Given the description of an element on the screen output the (x, y) to click on. 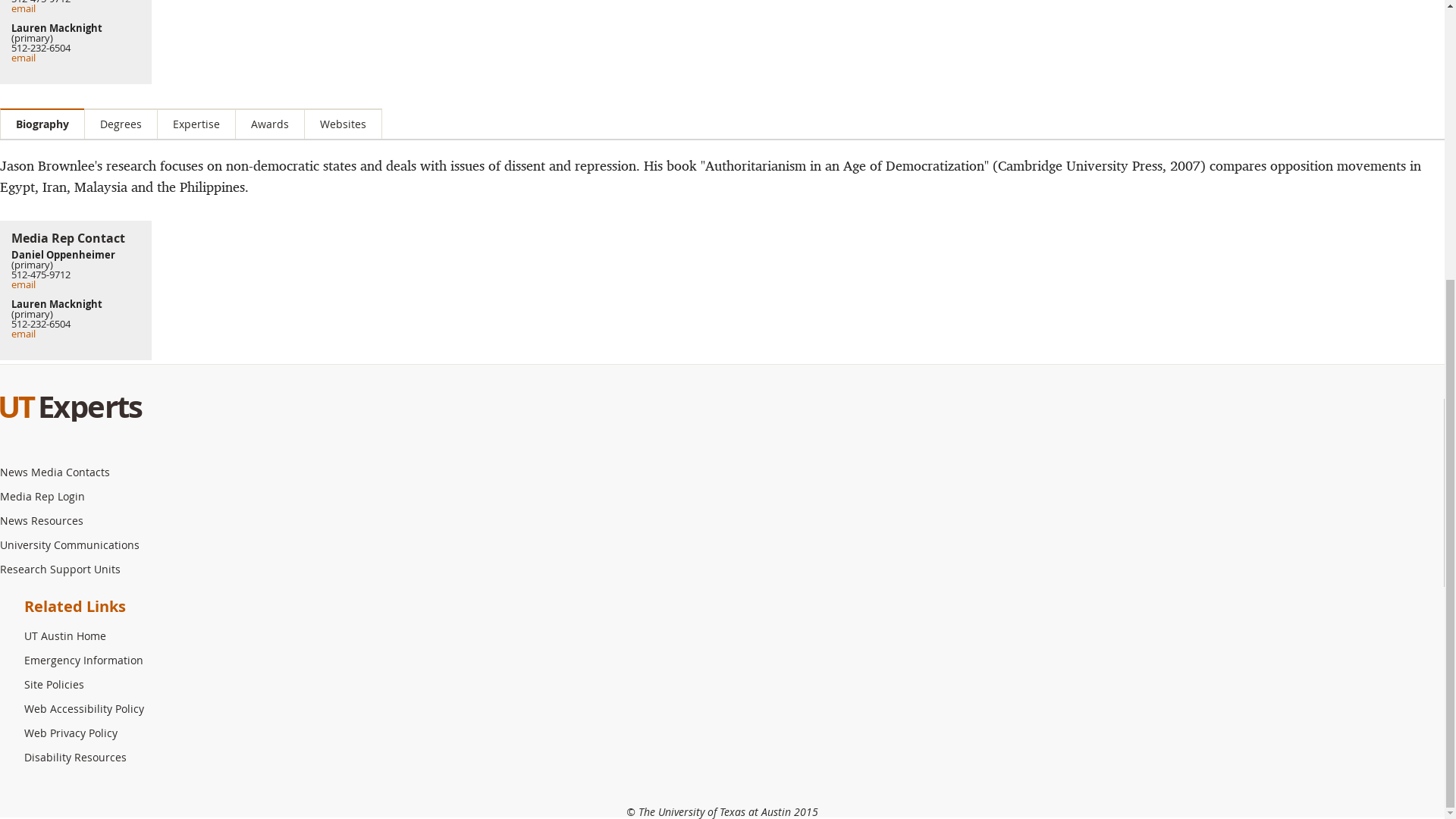
News Resources (45, 520)
Awards (269, 123)
email (22, 57)
email (22, 333)
Site Policies (57, 684)
email (22, 8)
University Communications (73, 544)
email (22, 284)
Websites (342, 123)
Expertise (195, 123)
Emergency Information (87, 659)
Degrees (120, 123)
Media Rep Login (46, 495)
UT Austin Home (68, 635)
Research Support Units (64, 568)
